Given the description of an element on the screen output the (x, y) to click on. 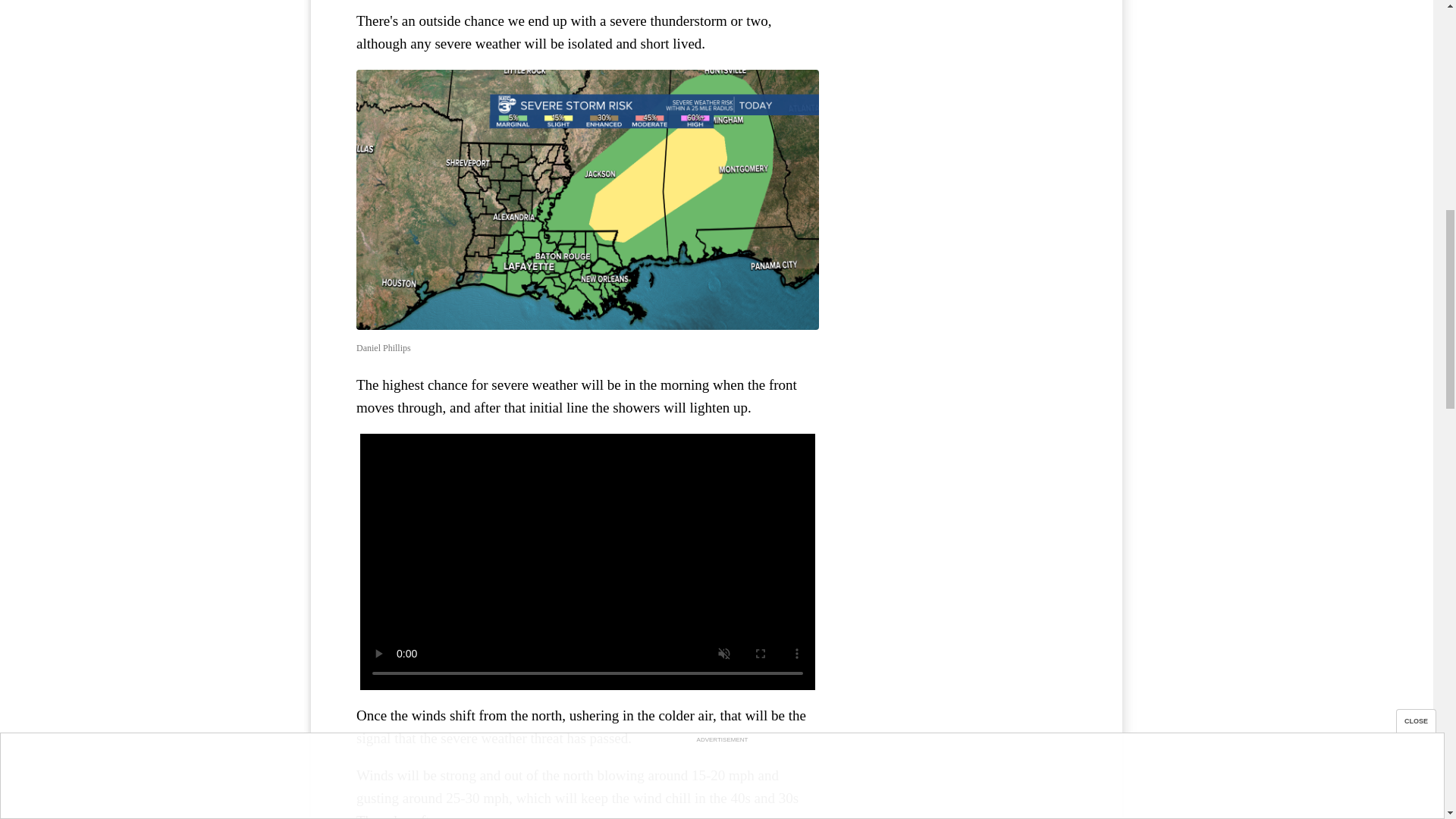
3rd party ad content (962, 76)
